Given the description of an element on the screen output the (x, y) to click on. 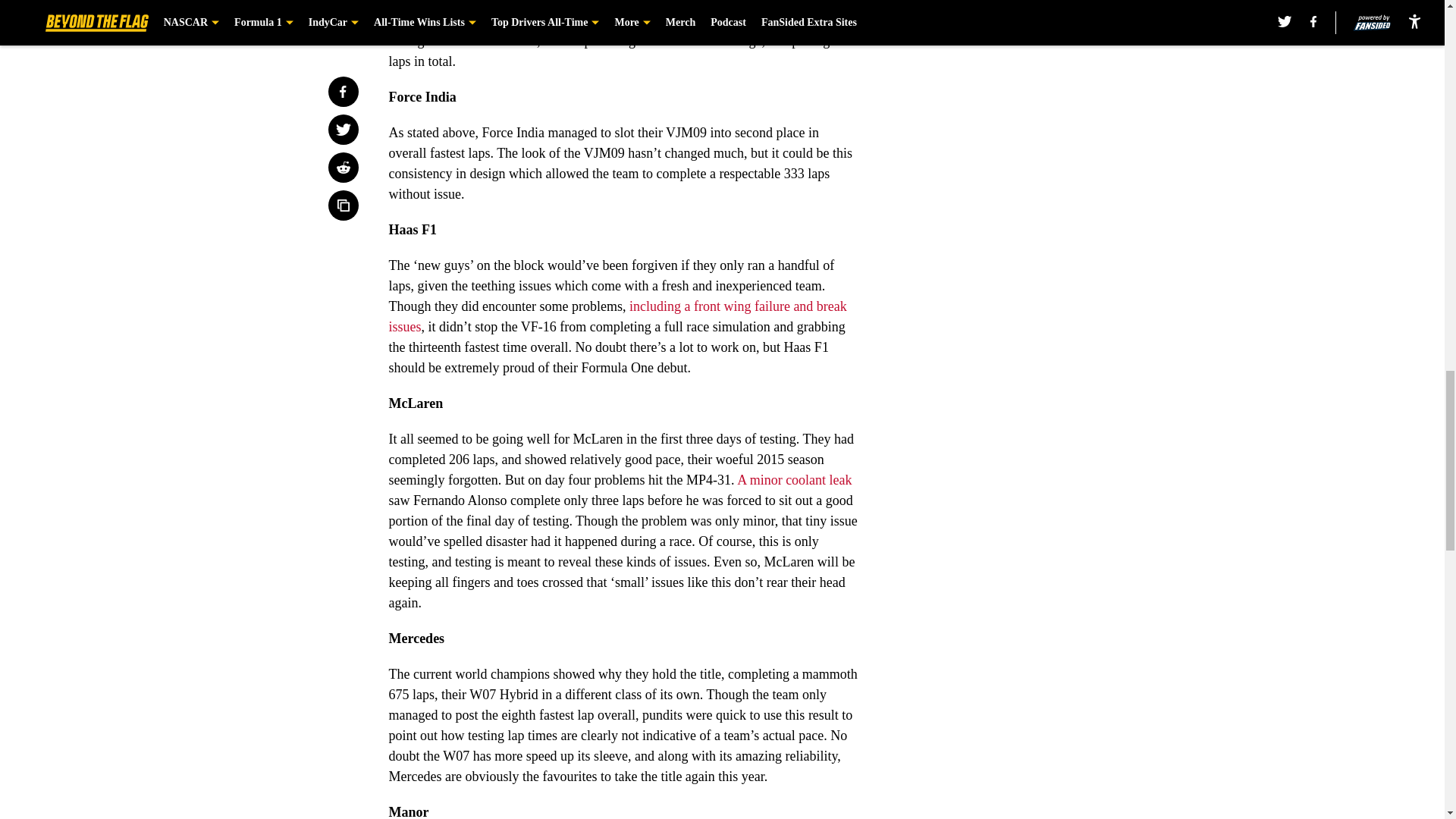
including a front wing failure and break issues (616, 316)
putting in a 1:22.810 (445, 20)
A minor coolant leak (793, 479)
